Given the description of an element on the screen output the (x, y) to click on. 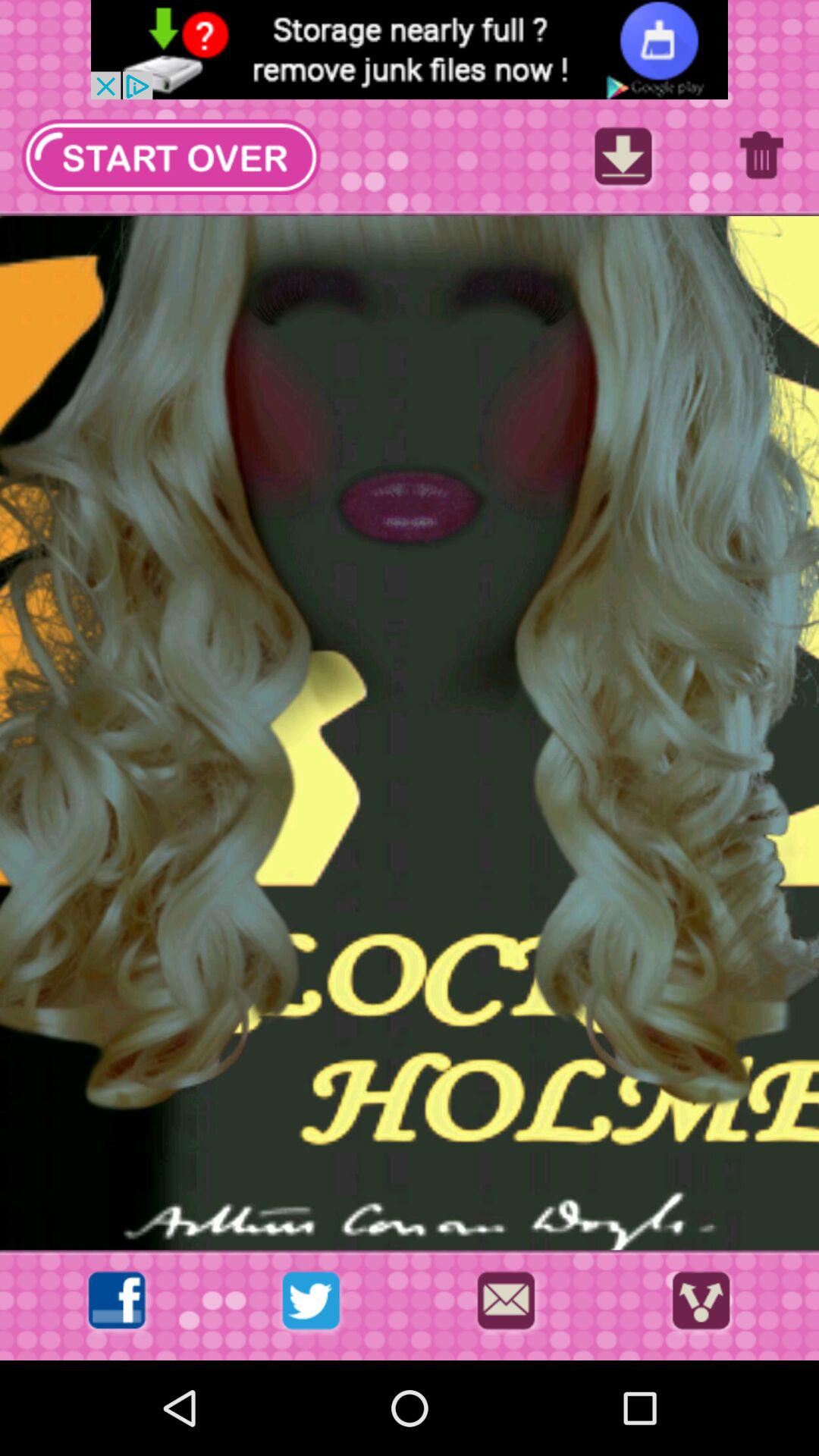
go to download (622, 160)
